Given the description of an element on the screen output the (x, y) to click on. 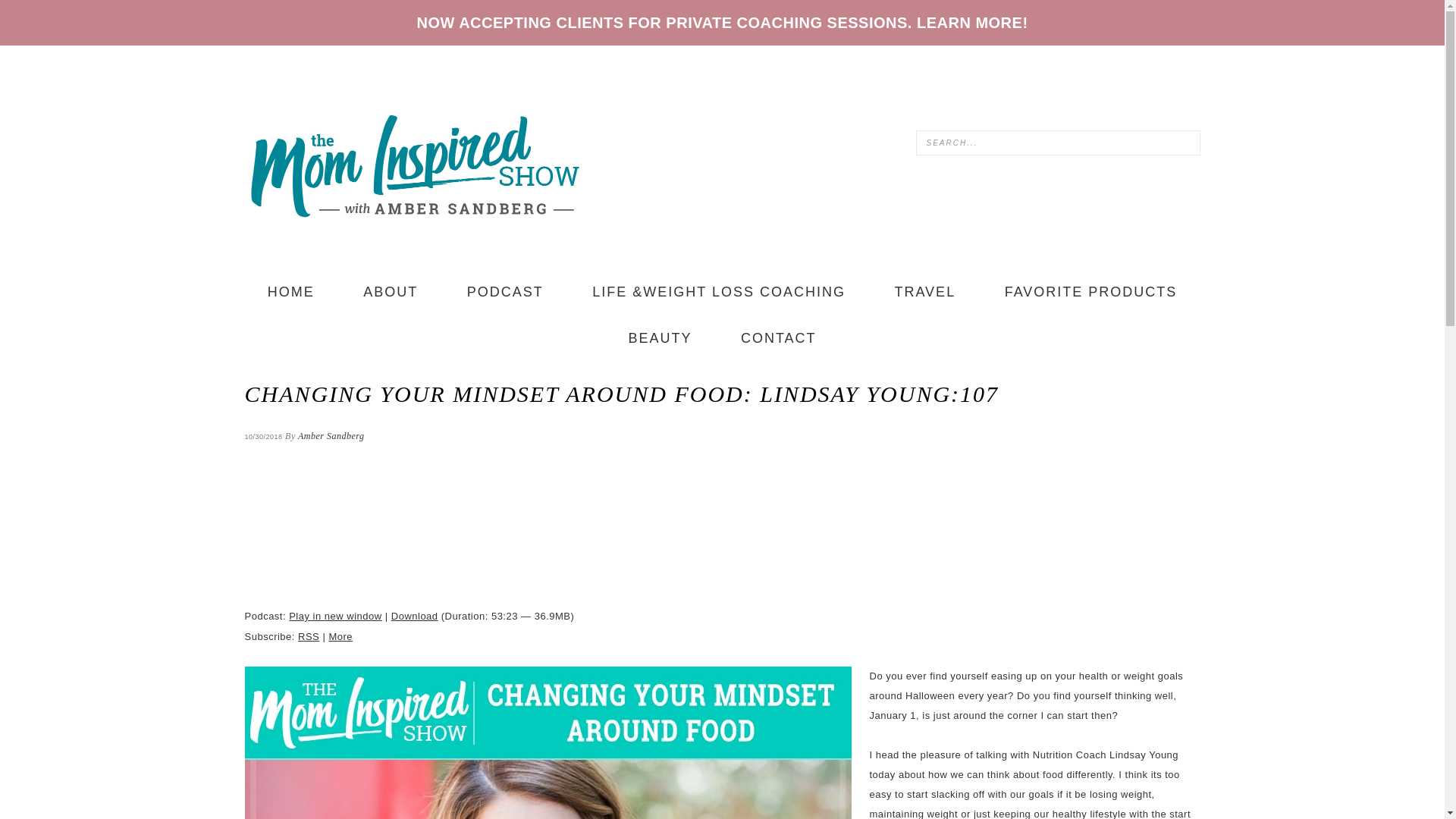
Play in new window (334, 615)
Subscribe via RSS (308, 636)
Download (414, 615)
CONTACT (778, 338)
Play in new window (334, 615)
ABOUT (390, 292)
Amber Sandberg (331, 435)
BEAUTY (659, 338)
More (340, 636)
PODCAST (505, 292)
TRAVEL (924, 292)
